Given the description of an element on the screen output the (x, y) to click on. 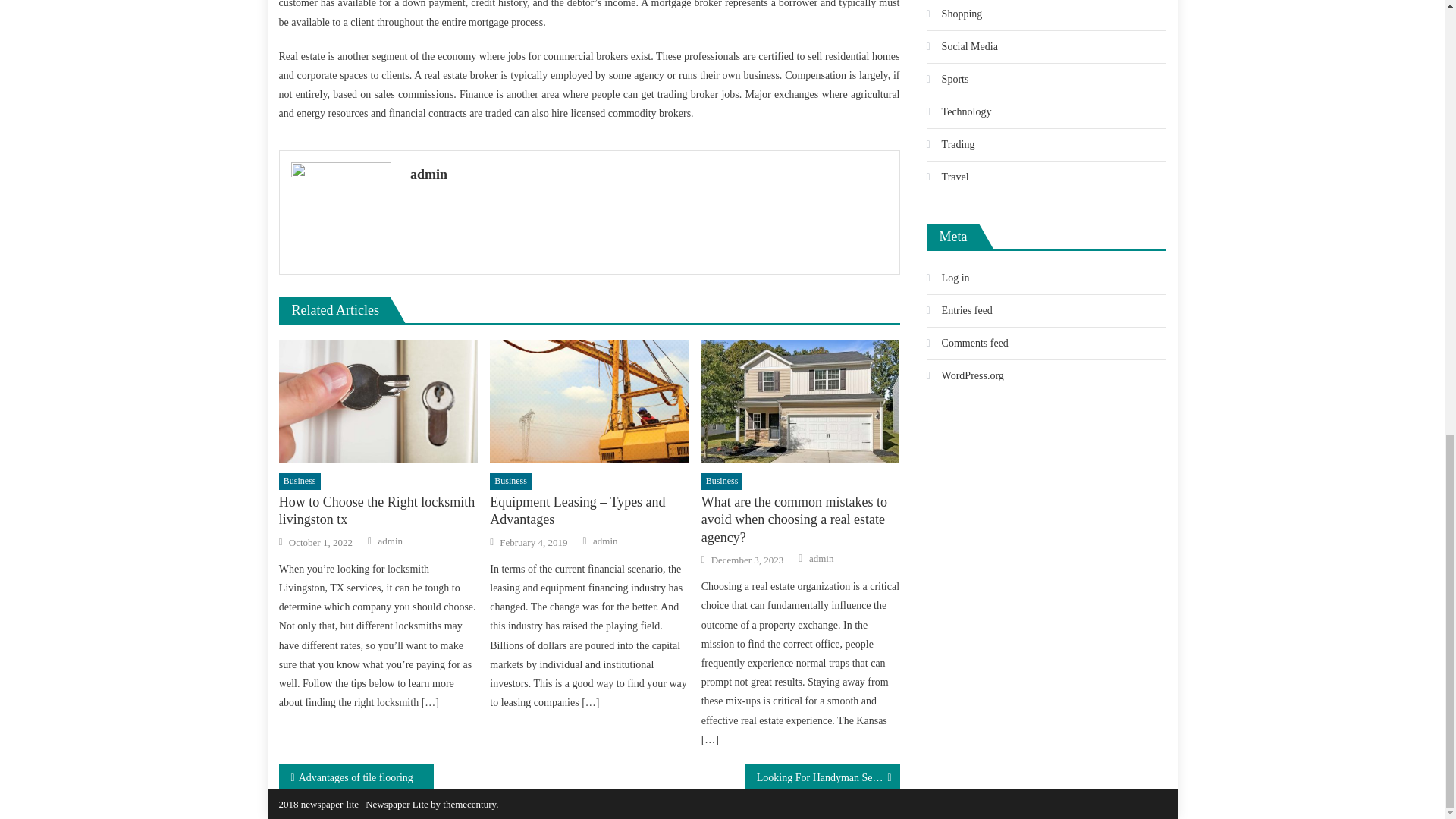
How to Choose the Right locksmith livingston tx (378, 511)
Business (299, 481)
February 4, 2019 (533, 542)
How to Choose the Right locksmith livingston tx (378, 401)
Advantages of tile flooring (356, 776)
October 1, 2022 (320, 542)
admin (821, 558)
Looking For Handyman Services (821, 776)
admin (649, 174)
admin (390, 540)
Business (721, 481)
admin (604, 540)
Business (510, 481)
